Given the description of an element on the screen output the (x, y) to click on. 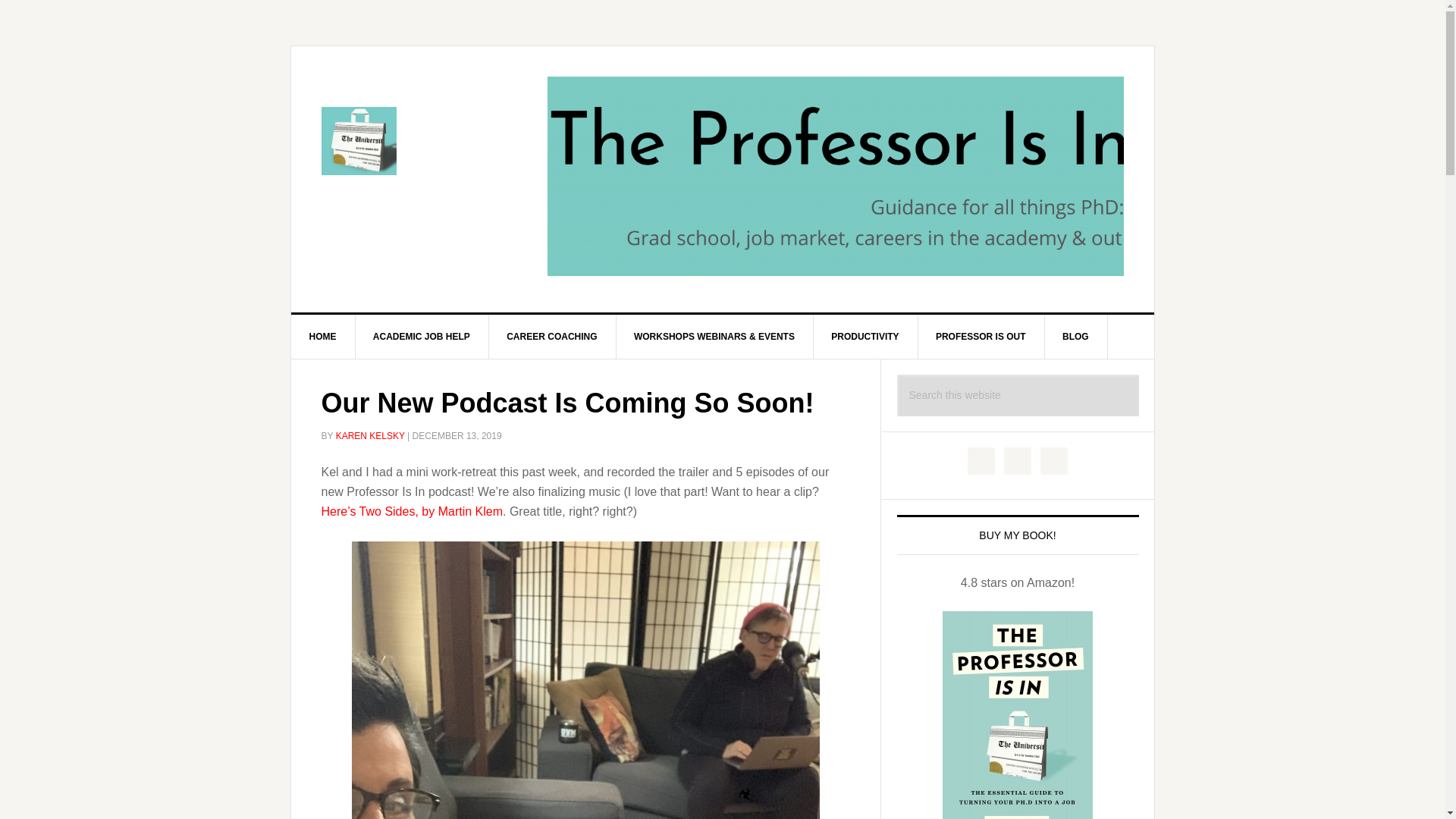
THE PROFESSOR IS IN (419, 141)
The Book (1017, 714)
PRODUCTIVITY (864, 336)
HOME (323, 336)
CAREER COACHING (551, 336)
PROFESSOR IS OUT (981, 336)
ACADEMIC JOB HELP (422, 336)
